Given the description of an element on the screen output the (x, y) to click on. 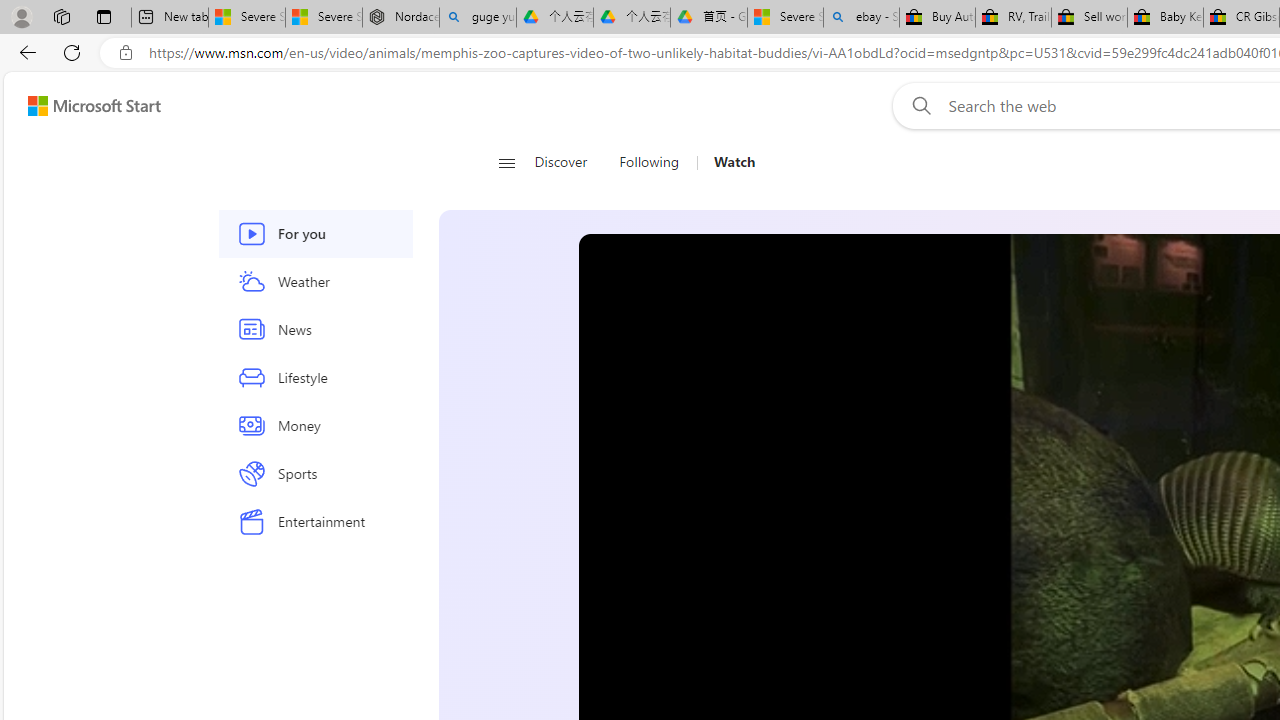
Skip to content (86, 105)
Watch (726, 162)
Sell worldwide with eBay (1089, 17)
Web search (917, 105)
Open navigation menu (506, 162)
